Given the description of an element on the screen output the (x, y) to click on. 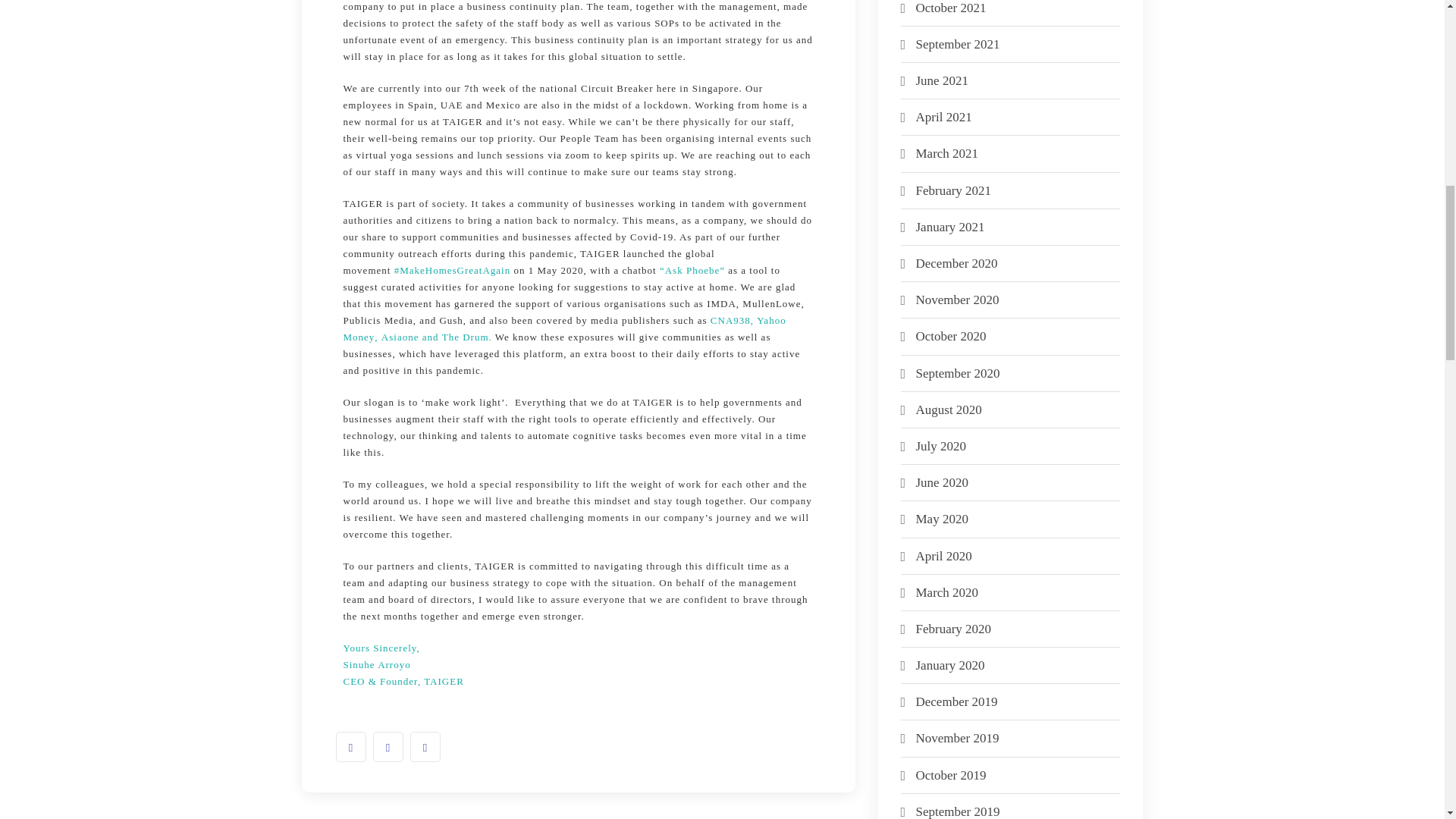
Yahoo Money (564, 328)
Instagram (387, 747)
Facebook (349, 747)
Ask Phoebe (692, 270)
Linkedin (424, 747)
Asiaone (400, 337)
CNA938 (730, 319)
The Drum (465, 337)
